Given the description of an element on the screen output the (x, y) to click on. 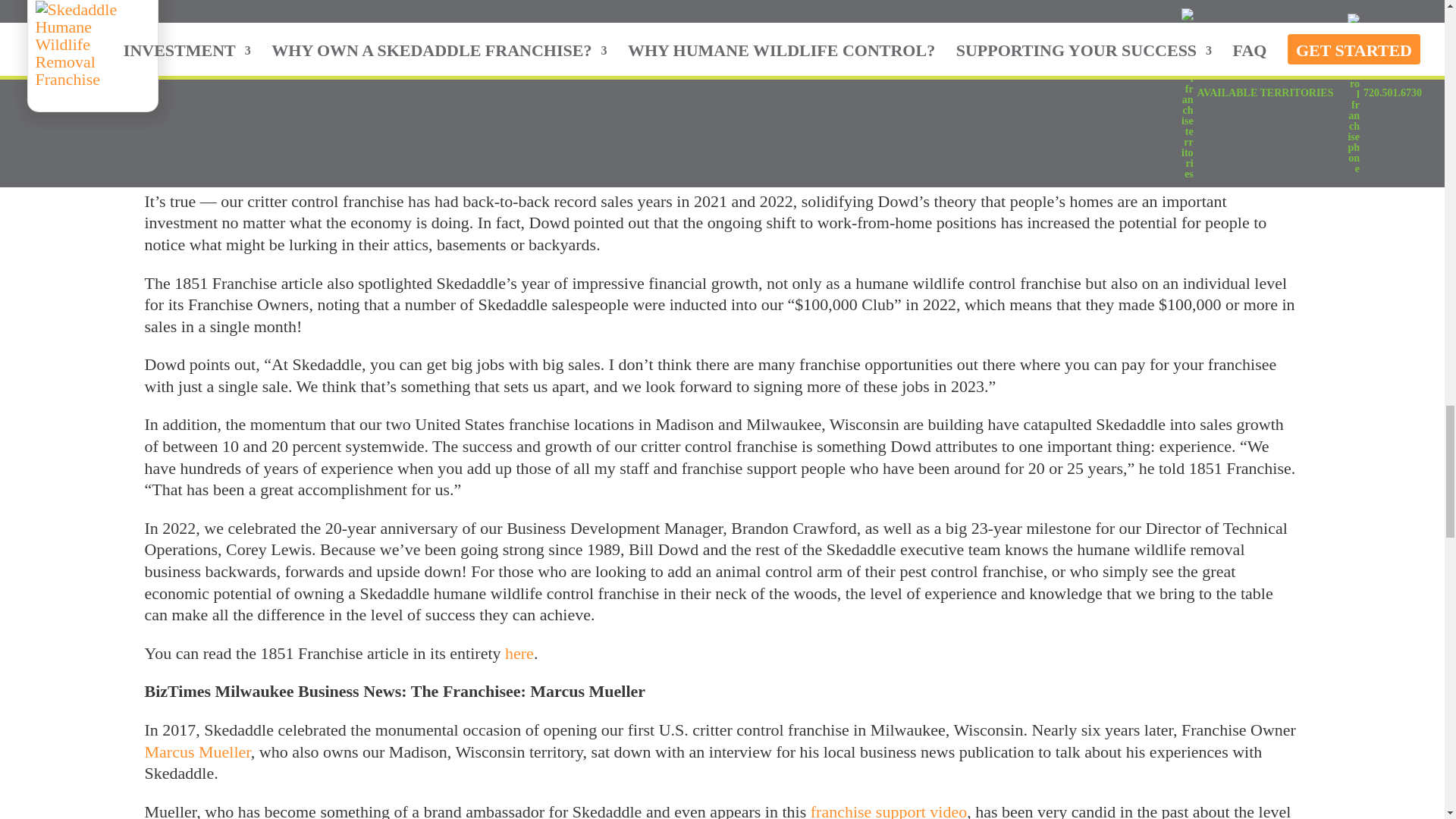
here (519, 652)
Marcus Mueller (197, 751)
franchise support video (889, 810)
